Given the description of an element on the screen output the (x, y) to click on. 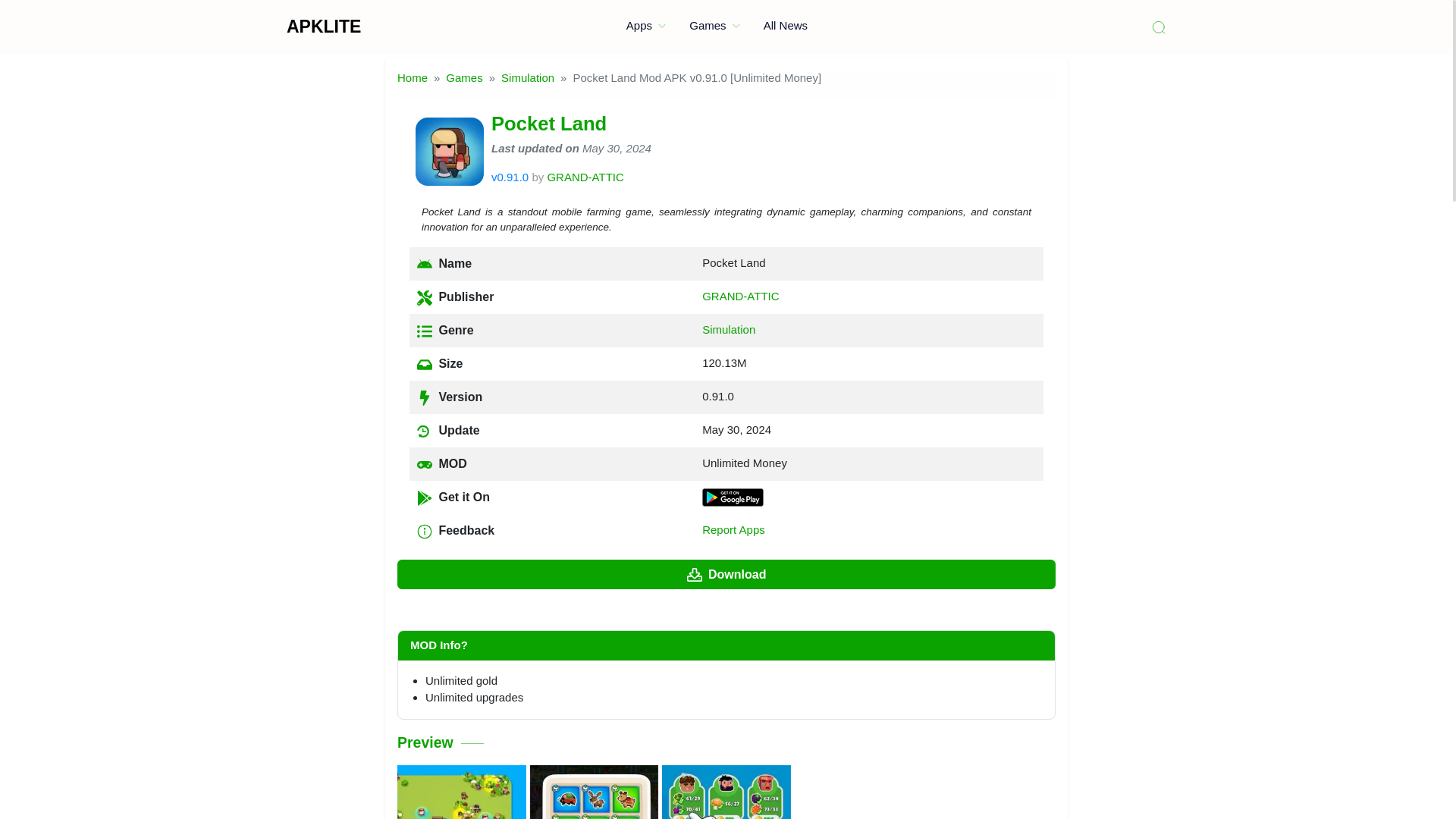
APKLITE (323, 26)
Developer by GRAND-ATTIC (585, 176)
Gallery 0 (461, 791)
Gallery 2 (726, 791)
Developer by GRAND-ATTIC (739, 295)
Gallery 1 (594, 791)
